Given the description of an element on the screen output the (x, y) to click on. 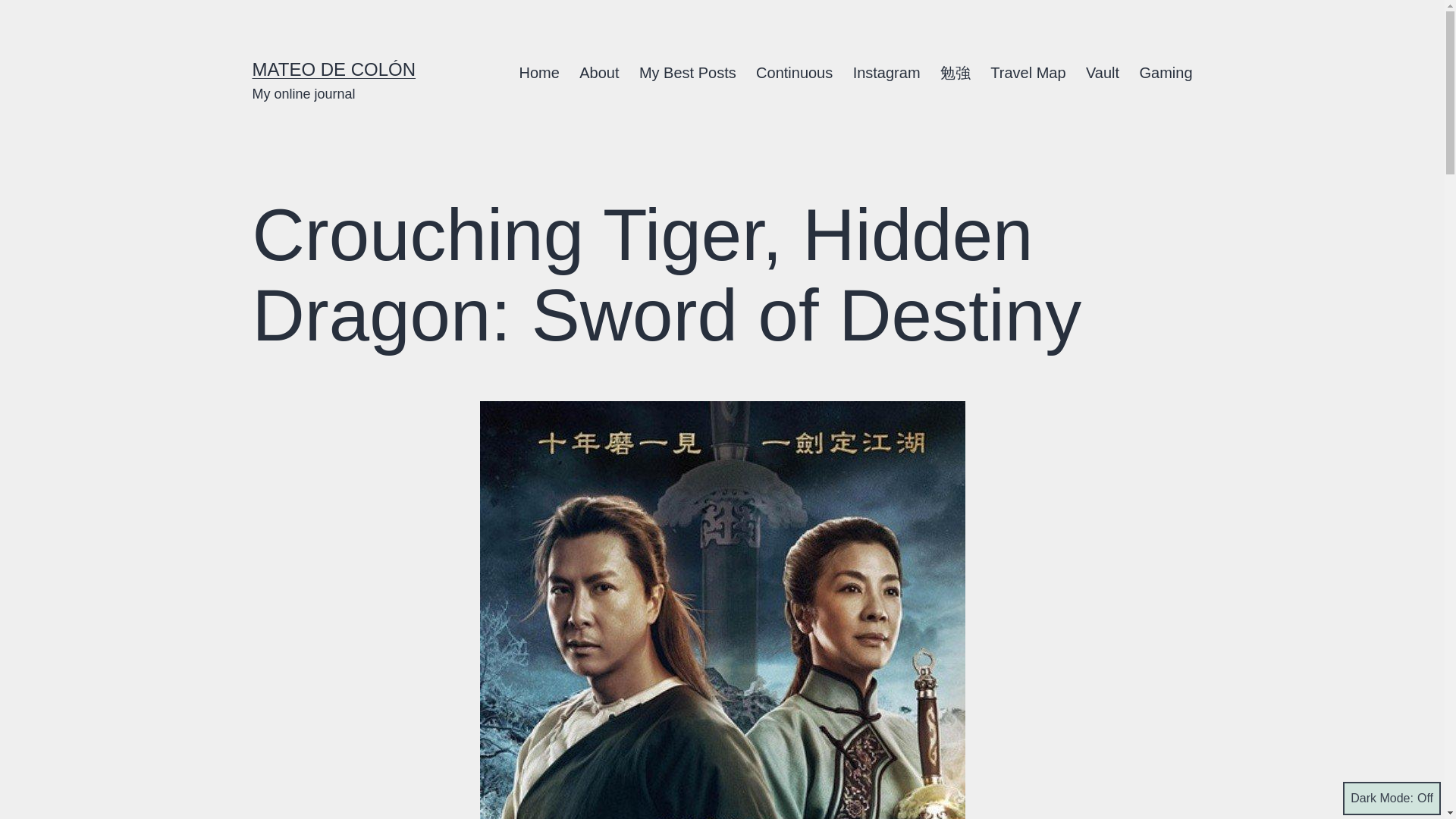
My Best Posts (686, 72)
Home (538, 72)
Vault (1102, 72)
Continuous (794, 72)
Gaming (1165, 72)
Travel Map (1027, 72)
About (598, 72)
Instagram (886, 72)
